Given the description of an element on the screen output the (x, y) to click on. 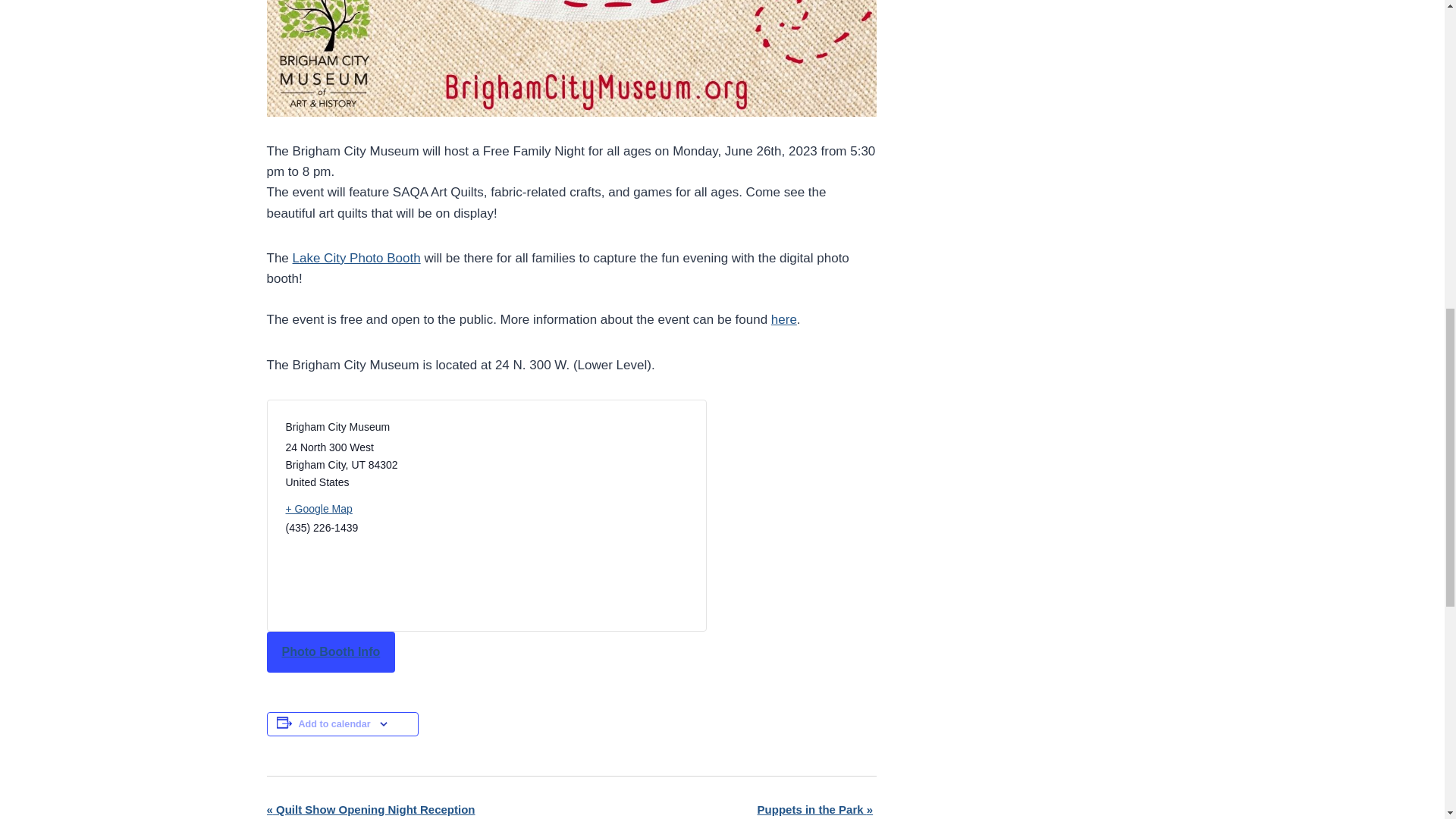
Photo Booth Info (331, 651)
Utah (357, 464)
here (783, 319)
Add to calendar (334, 724)
Click to view a Google Map (379, 508)
Lake City Photo Booth (356, 257)
